Given the description of an element on the screen output the (x, y) to click on. 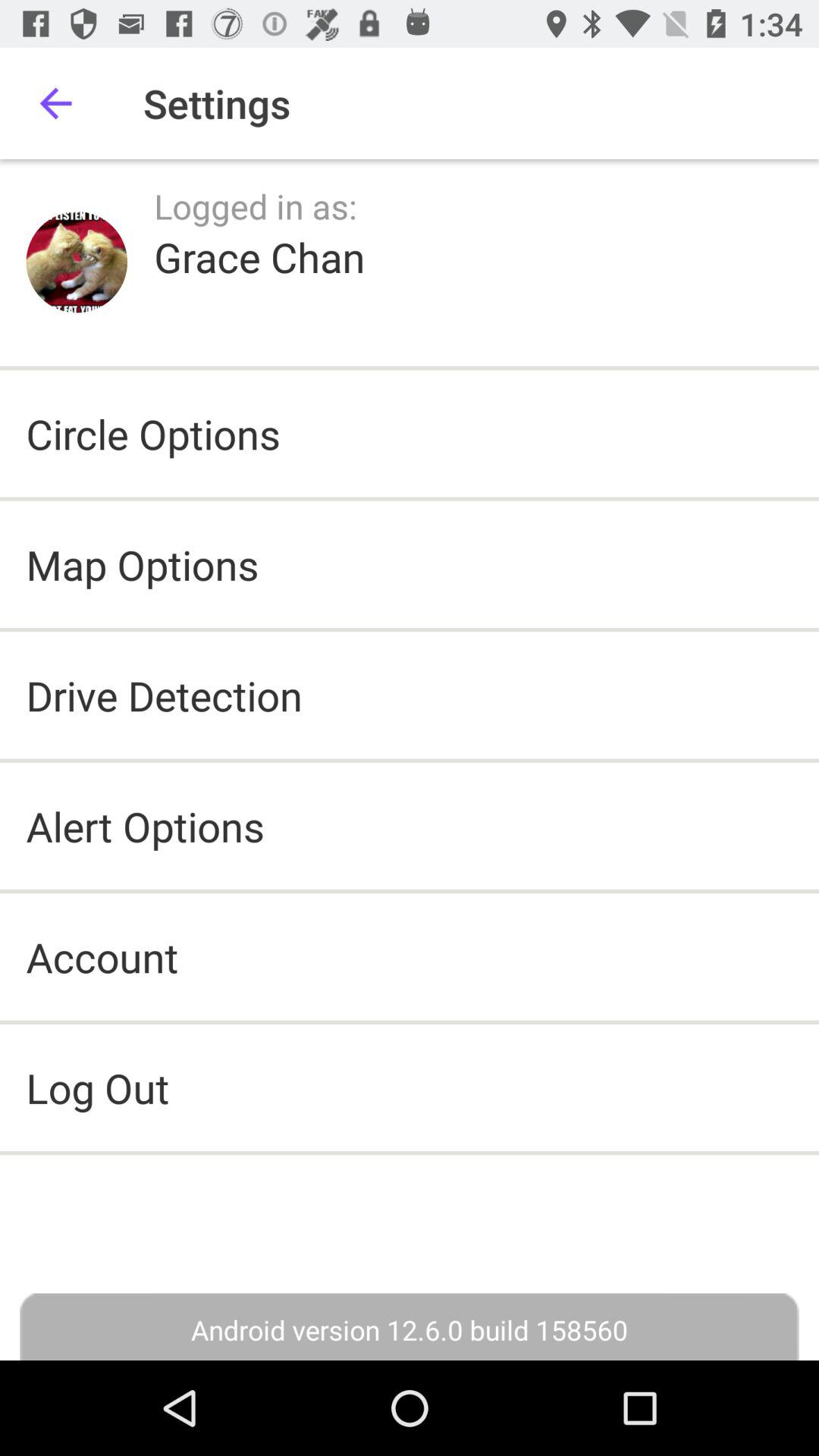
open the item next to settings item (55, 103)
